Given the description of an element on the screen output the (x, y) to click on. 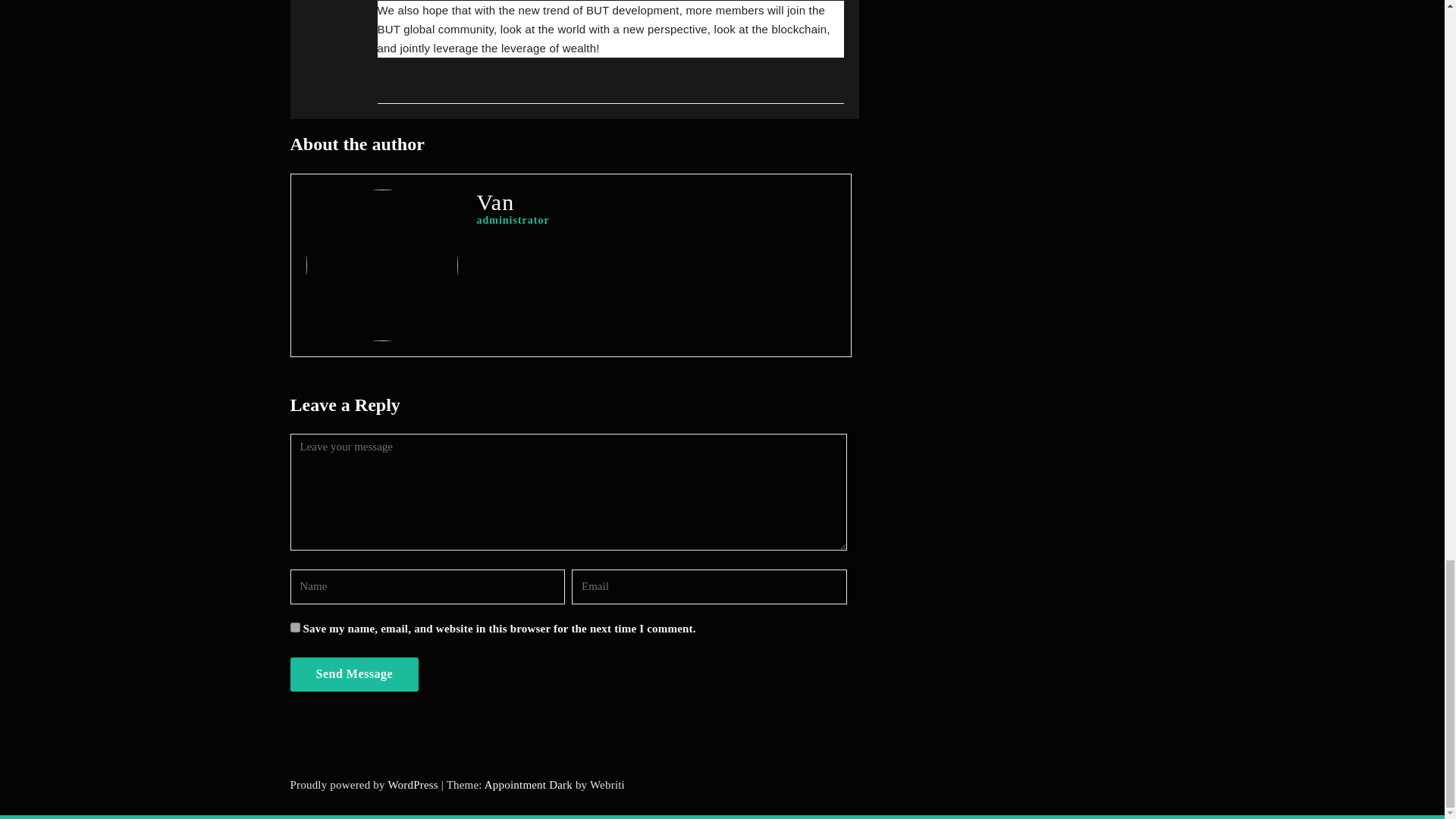
Appointment Dark (528, 784)
Send Message (354, 674)
Send Message (354, 674)
WordPress (412, 784)
yes (294, 627)
